Given the description of an element on the screen output the (x, y) to click on. 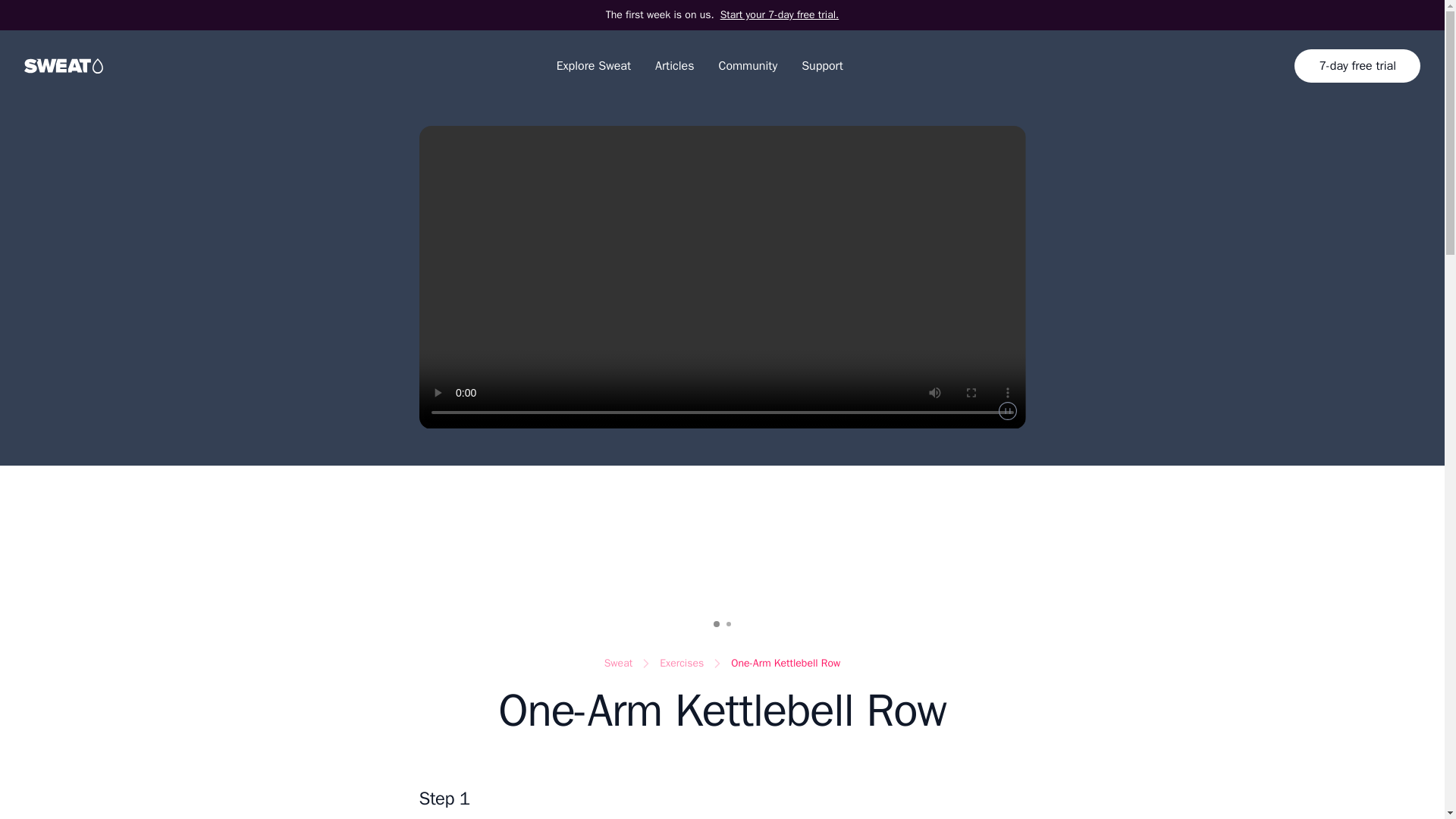
Start your 7-day free trial. (780, 14)
Articles (674, 65)
Explore Sweat (593, 65)
7-day free trial (1357, 65)
One-Arm Kettlebell Row (785, 663)
Support (822, 65)
Community (747, 65)
Exercises (681, 663)
Sweat (617, 663)
